Given the description of an element on the screen output the (x, y) to click on. 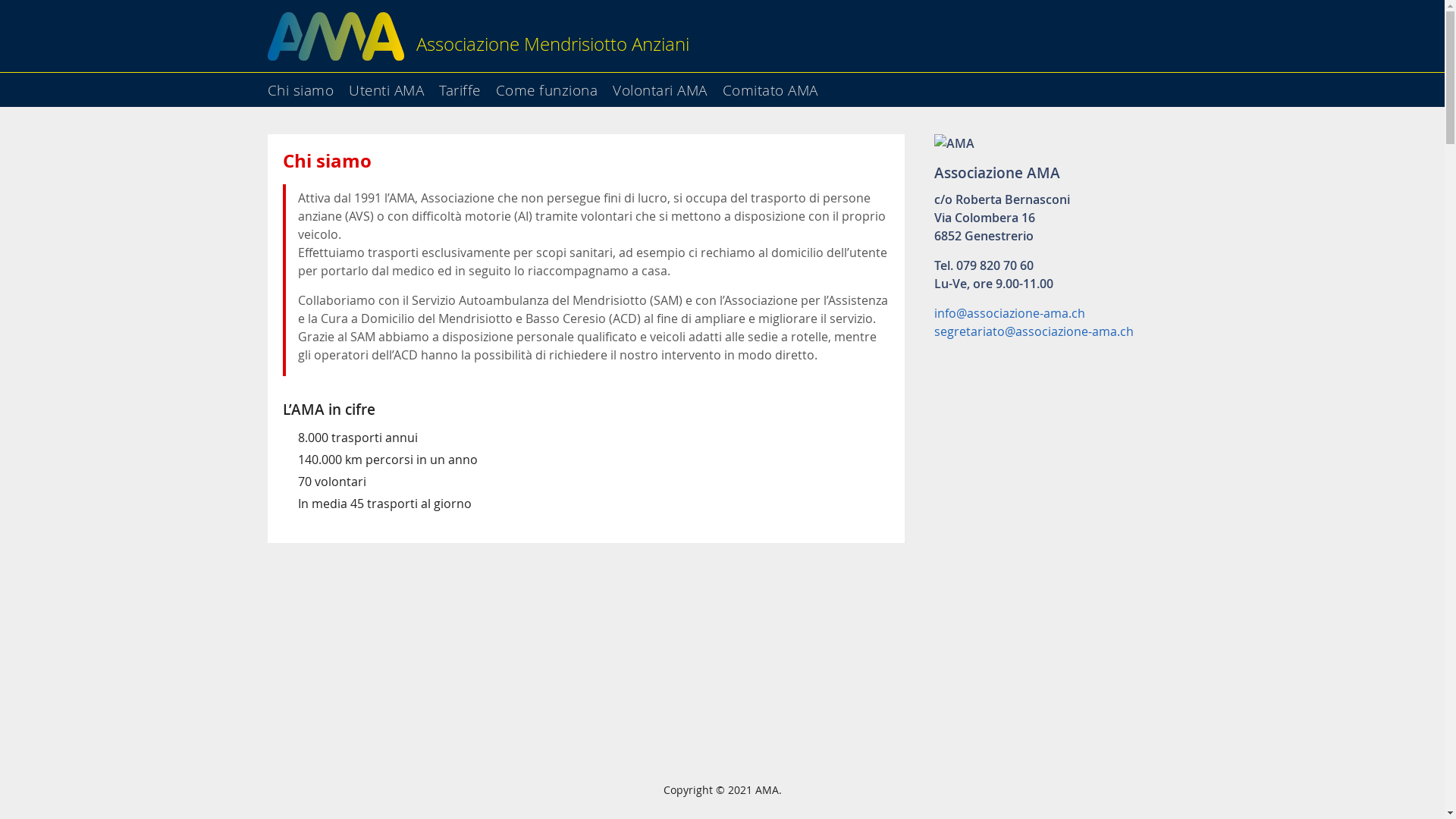
Comitato AMA Element type: text (775, 84)
VOLONTARI AMA Element type: text (1353, 256)
segretariato@associazione-ama.ch Element type: text (1033, 331)
Utenti AMA Element type: text (392, 84)
Come funziona Element type: text (552, 84)
COMITATO AMA Element type: text (1353, 297)
Volontari AMA Element type: text (665, 84)
Chi siamo Element type: text (305, 84)
COME FUNZIONA Element type: text (1353, 215)
TARIFFE Element type: text (1353, 174)
Tariffe Element type: text (465, 84)
UTENTI AMA Element type: text (1353, 133)
CHI SIAMO Element type: text (1353, 92)
CONTATTI Element type: text (1353, 338)
info@associazione-ama.ch Element type: text (1009, 312)
